Given the description of an element on the screen output the (x, y) to click on. 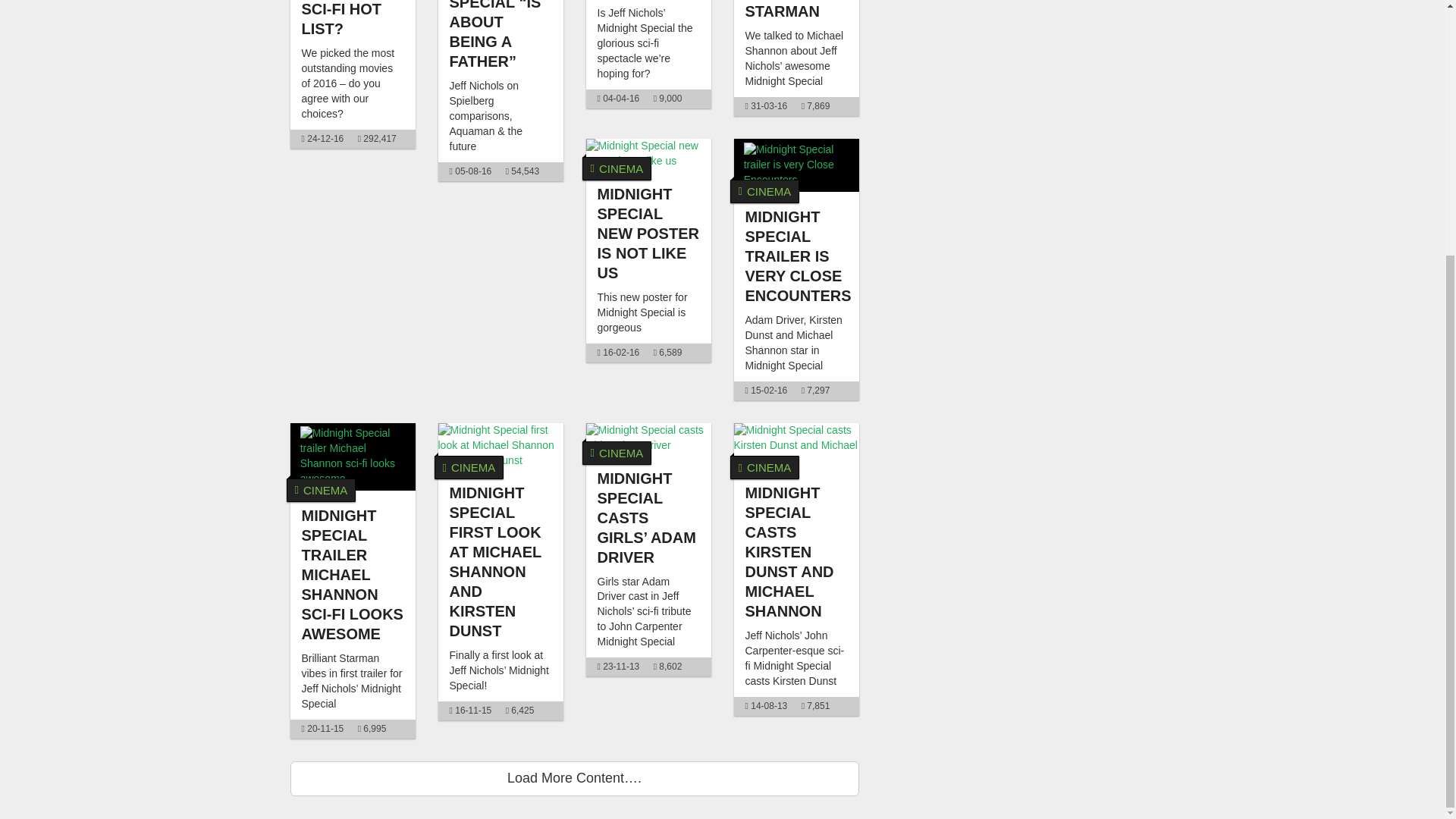
22 BEST FILMS OF 2016: WHAT MADE THE SCI-FI HOT LIST? (344, 18)
